Given the description of an element on the screen output the (x, y) to click on. 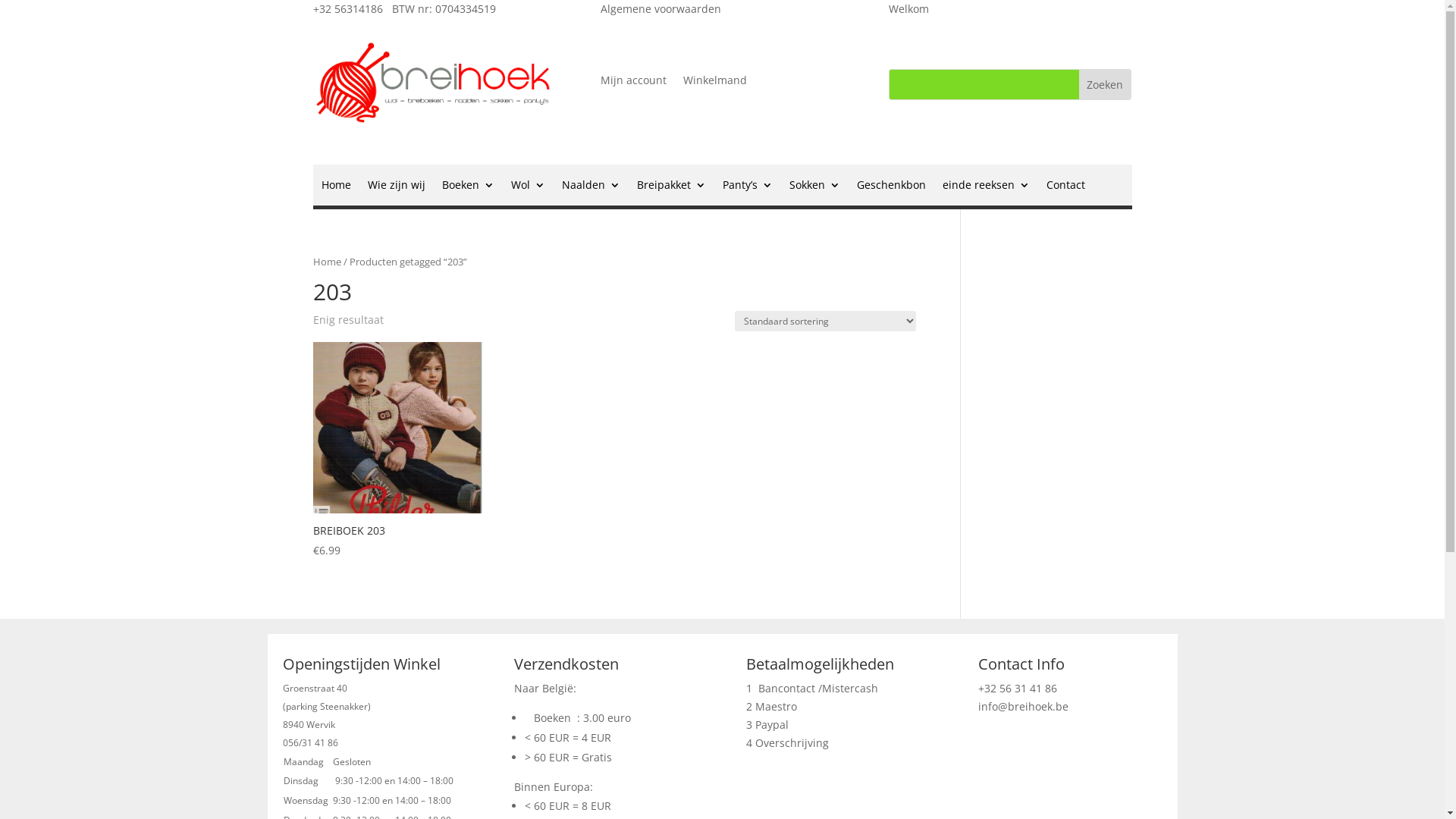
Winkelmand Element type: text (714, 83)
Geschenkbon Element type: text (890, 187)
Zoeken Element type: text (1104, 84)
Sokken Element type: text (813, 187)
einde reeksen Element type: text (985, 187)
Contact Element type: text (1065, 187)
Breipakket Element type: text (671, 187)
Home Element type: text (326, 261)
logo Element type: hover (433, 80)
Wie zijn wij Element type: text (395, 187)
Wol Element type: text (528, 187)
Home Element type: text (336, 187)
Mijn account Element type: text (633, 83)
Naalden Element type: text (590, 187)
Boeken Element type: text (467, 187)
